Given the description of an element on the screen output the (x, y) to click on. 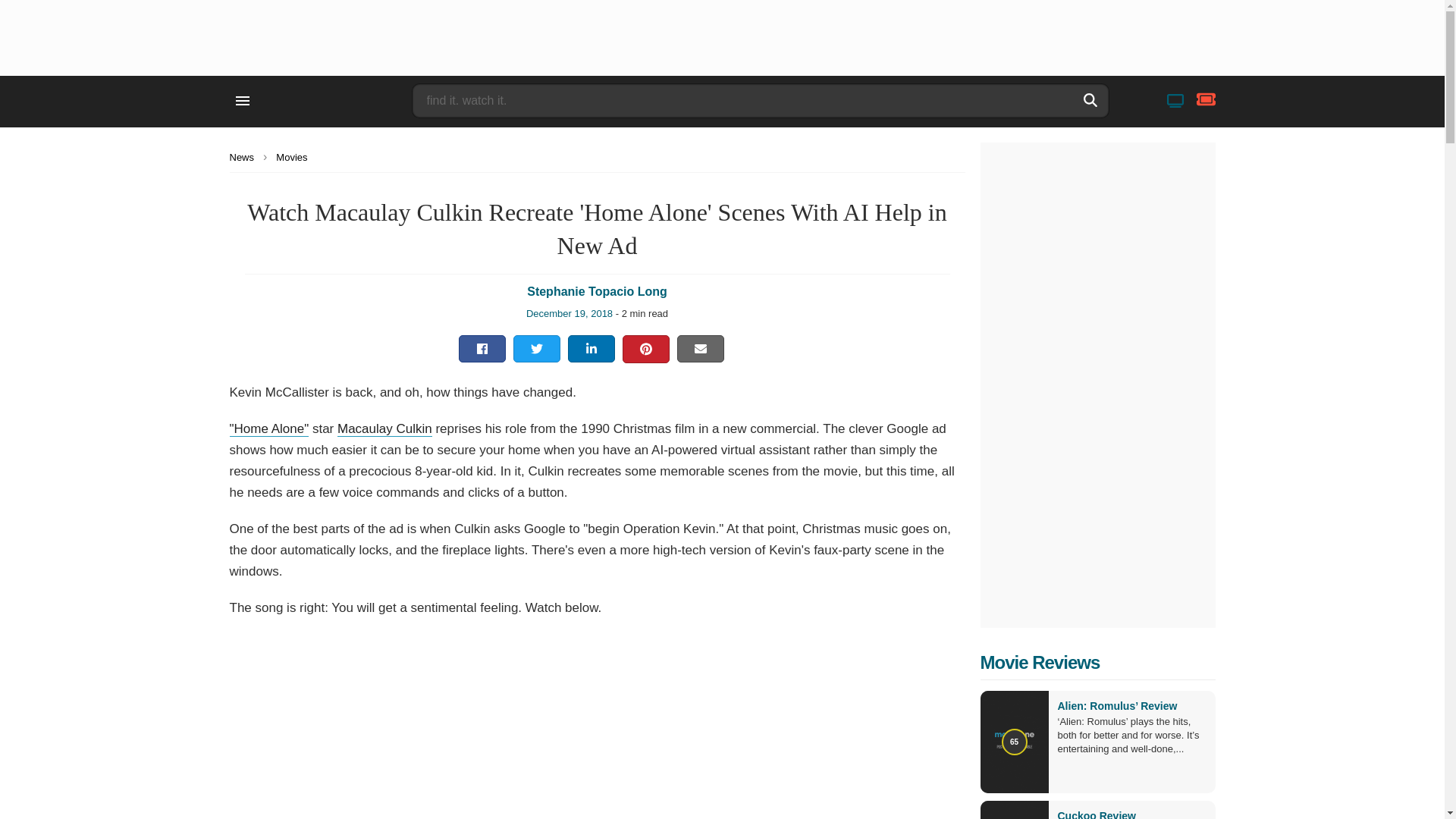
December 19, 2018 (568, 313)
Share on Facebook (482, 348)
Share on Pinterest (645, 348)
Share on LinkedIn (591, 348)
News (245, 156)
Stephanie Topacio Long (596, 291)
Cuckoo movie (1096, 814)
Moviefone (323, 100)
Movies (295, 156)
Share on Twitter (536, 348)
